Given the description of an element on the screen output the (x, y) to click on. 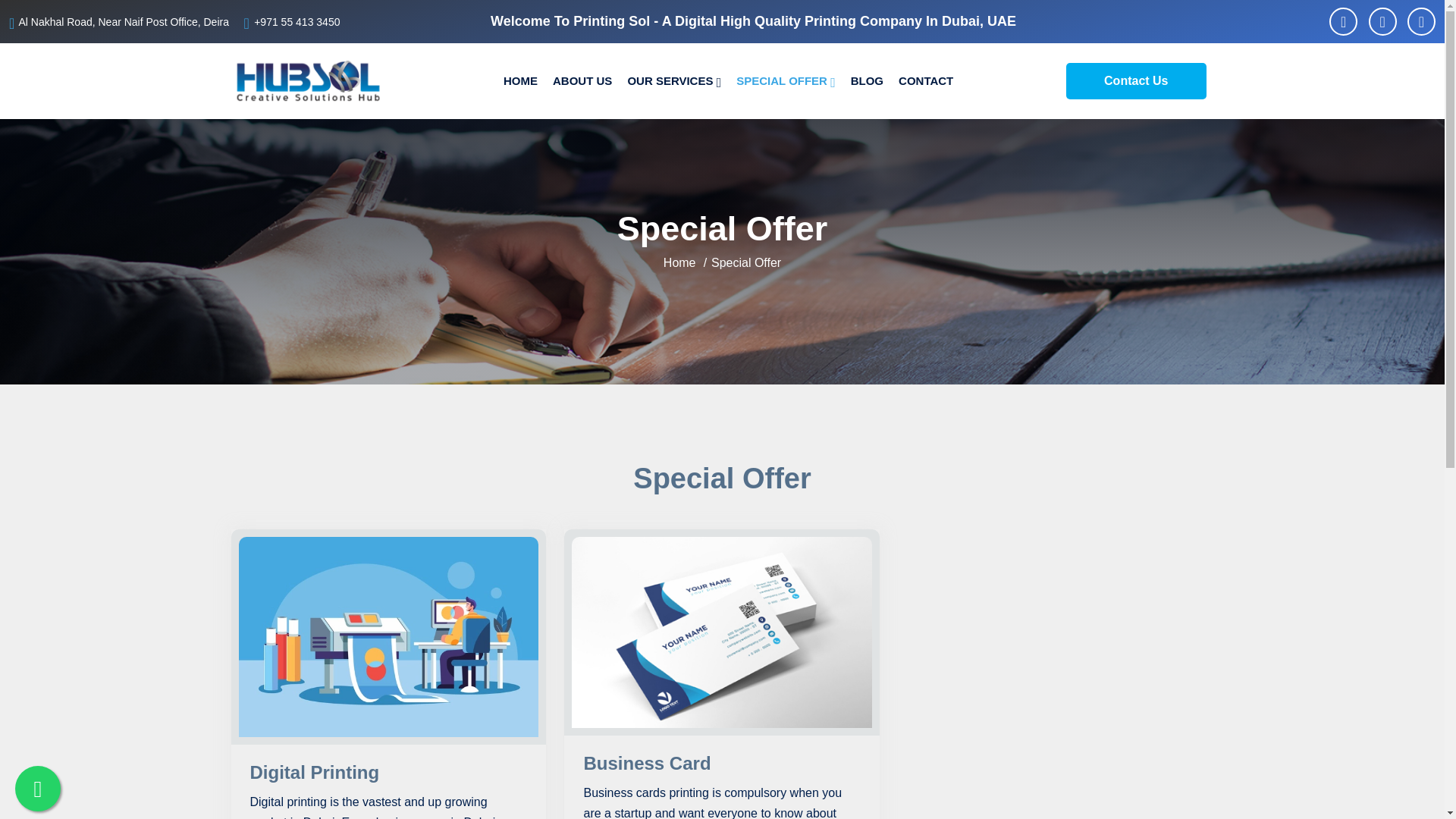
ABOUT US (582, 81)
SPECIAL OFFER (785, 81)
OUR SERVICES (673, 81)
HOME (520, 81)
